Given the description of an element on the screen output the (x, y) to click on. 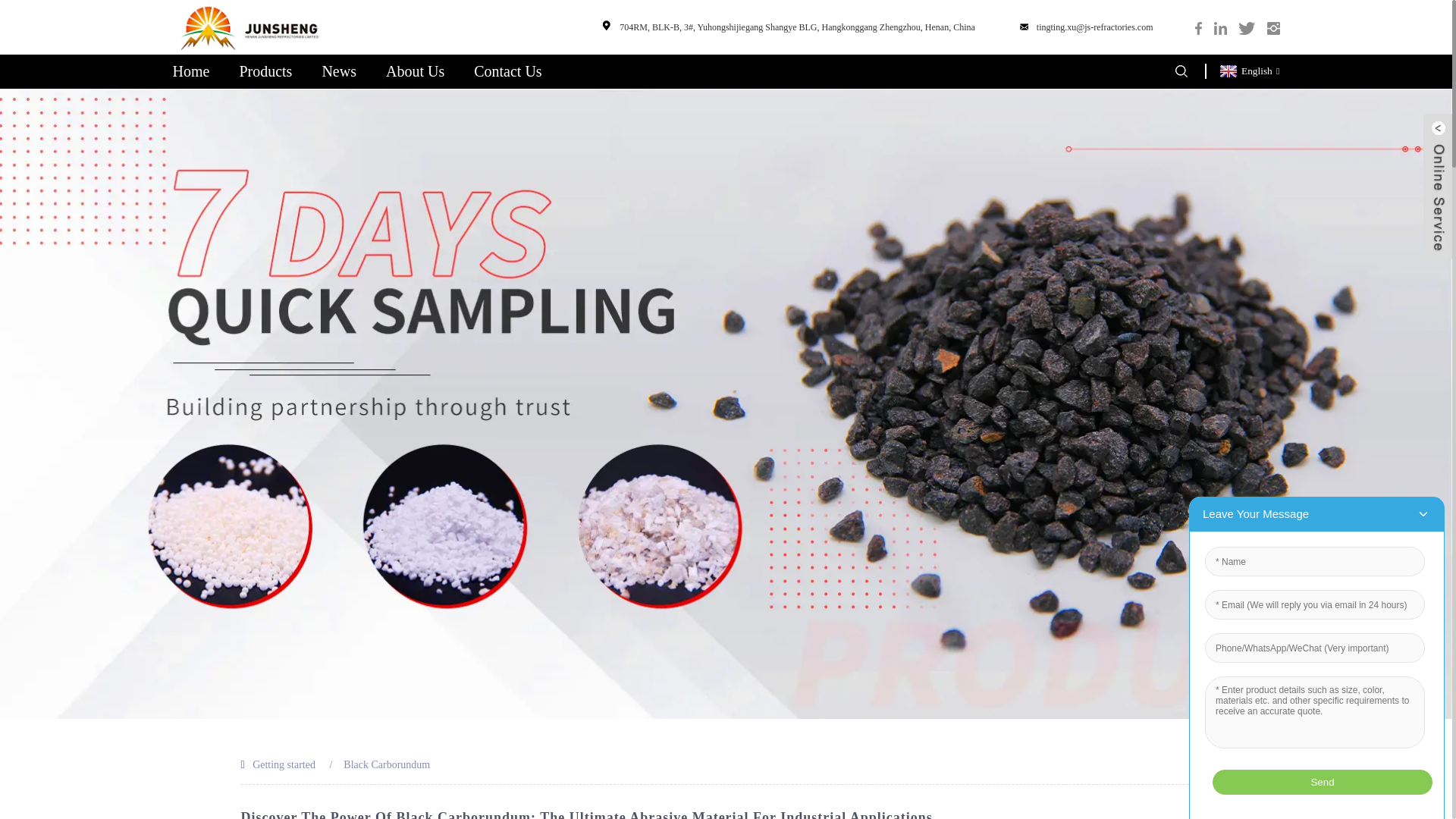
English (1247, 70)
Getting started (283, 764)
Black Carborundum (386, 764)
About Us (414, 71)
Contact Us (507, 71)
News (338, 71)
Products (265, 71)
Home (191, 71)
